Given the description of an element on the screen output the (x, y) to click on. 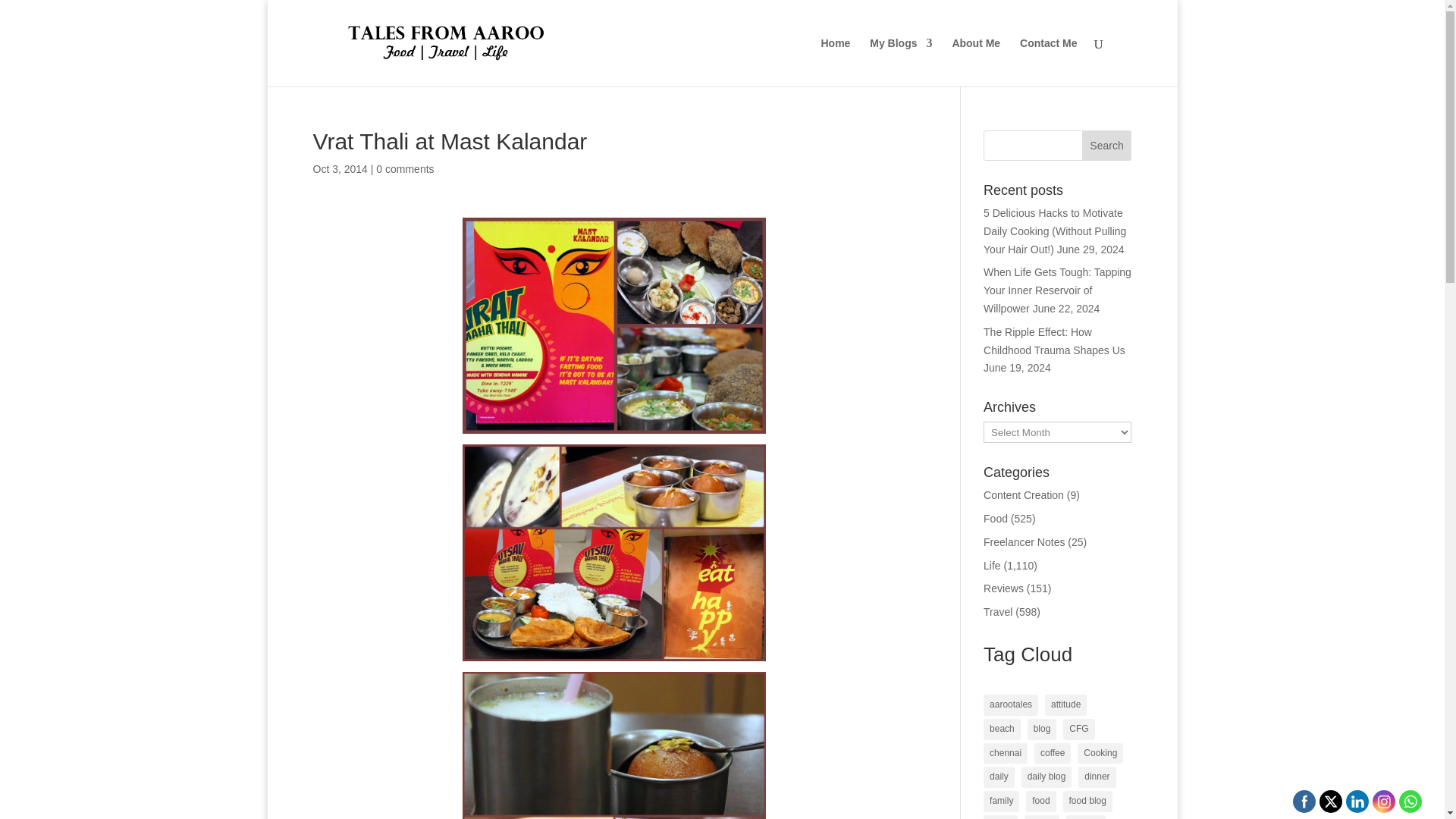
blog (1042, 729)
About Me (976, 61)
0 comments (404, 168)
Travel (997, 612)
Contact Me (1048, 61)
Twitter (1331, 801)
The Ripple Effect: How Childhood Trauma Shapes Us (1054, 340)
Freelancer Notes (1024, 541)
Search (1106, 145)
aarootales (1011, 704)
My Blogs (900, 61)
Food (995, 518)
Life (992, 565)
CFG (1078, 729)
